Given the description of an element on the screen output the (x, y) to click on. 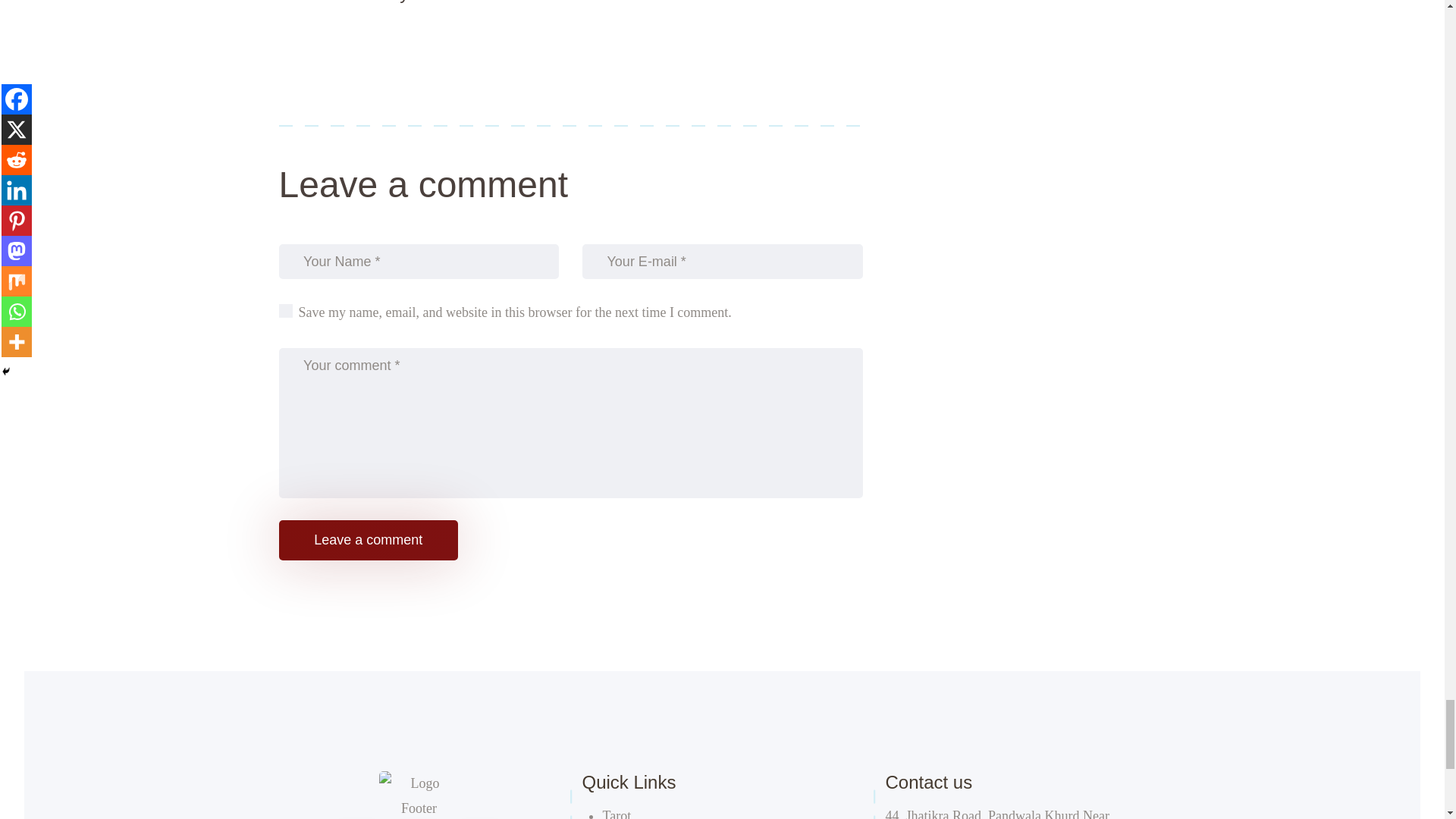
Leave a comment (368, 540)
